Given the description of an element on the screen output the (x, y) to click on. 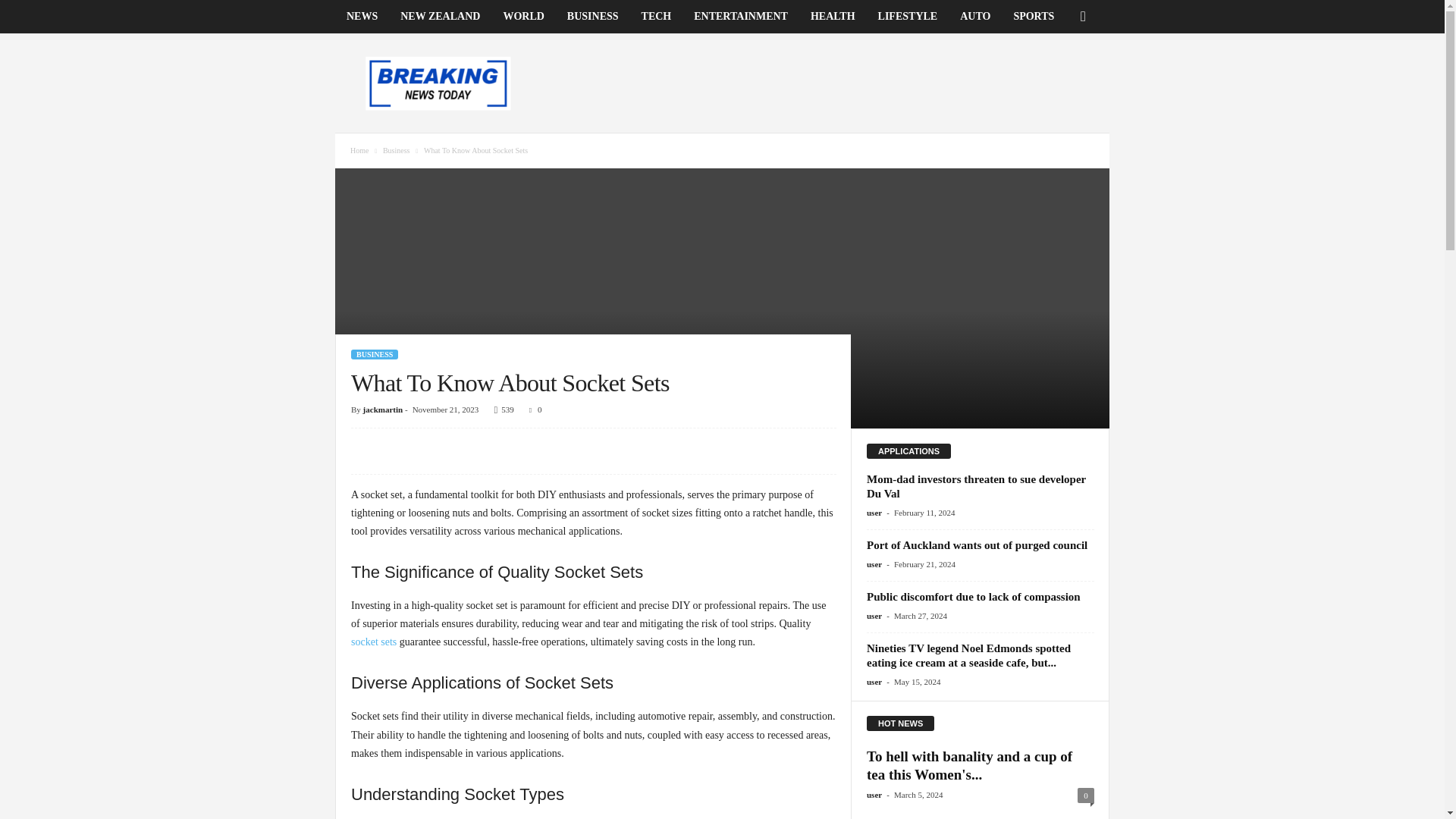
NEW ZEALAND (440, 16)
jackmartin (382, 409)
NEWS (361, 16)
0 (531, 409)
BUSINESS (593, 16)
Business (396, 150)
breakingnewstoday (438, 83)
BUSINESS (373, 354)
Breakingnewstoday.co.nz (437, 83)
AUTO (975, 16)
